Given the description of an element on the screen output the (x, y) to click on. 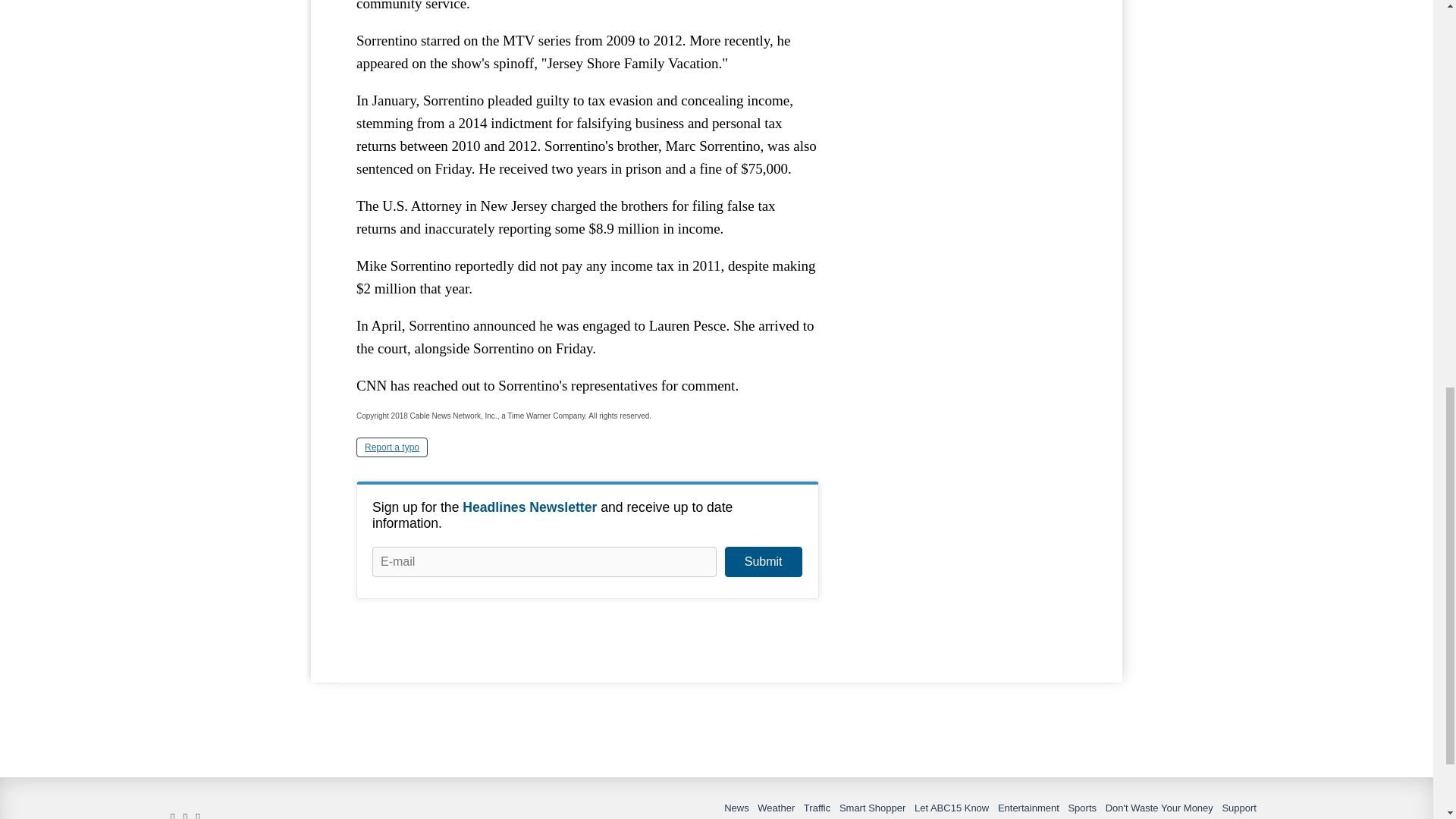
Submit (763, 562)
